Given the description of an element on the screen output the (x, y) to click on. 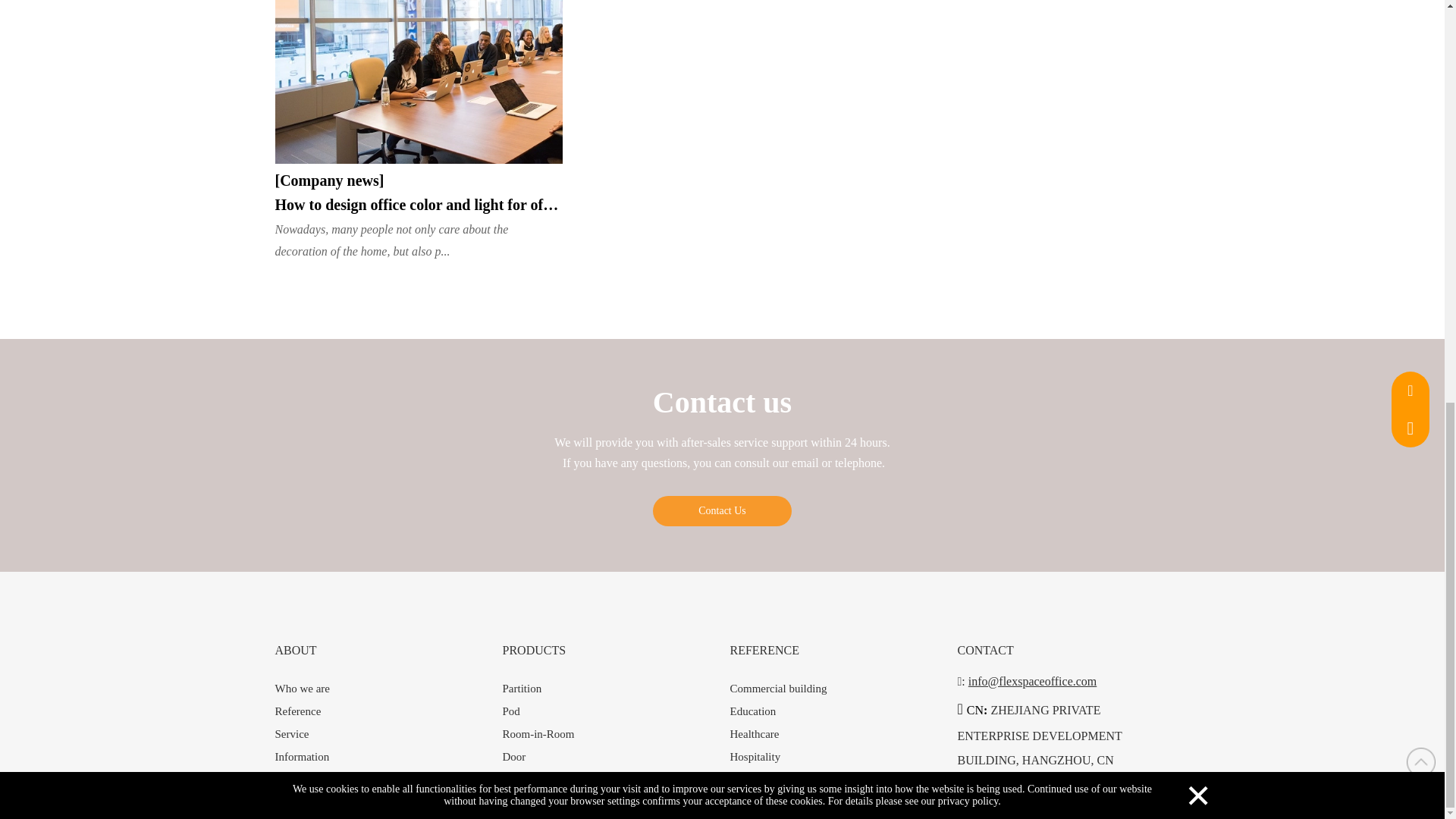
Information (302, 756)
Education (752, 711)
Service (291, 734)
How to design office color and light for office decoration (418, 204)
Who we are (302, 688)
Room-in-Room (537, 734)
Door (513, 756)
Hospitality (754, 756)
Partition (521, 688)
Pod (510, 711)
Company news (329, 180)
Healthcare (753, 734)
Reference (297, 711)
Commercial building (778, 688)
